Given the description of an element on the screen output the (x, y) to click on. 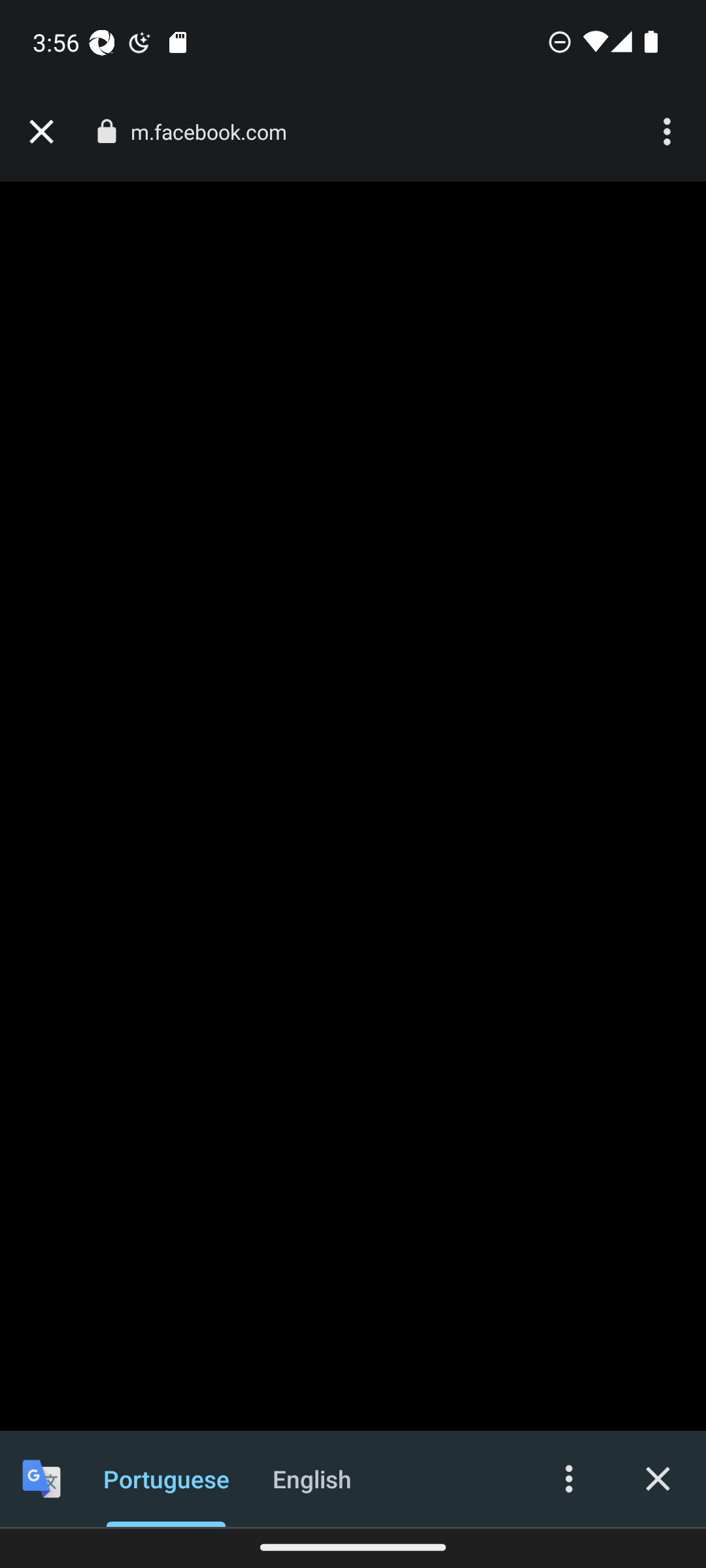
Close tab (41, 131)
More options (669, 131)
Connection is secure (106, 131)
m.facebook.com (215, 131)
English (312, 1478)
More options (568, 1478)
Close (657, 1478)
